Given the description of an element on the screen output the (x, y) to click on. 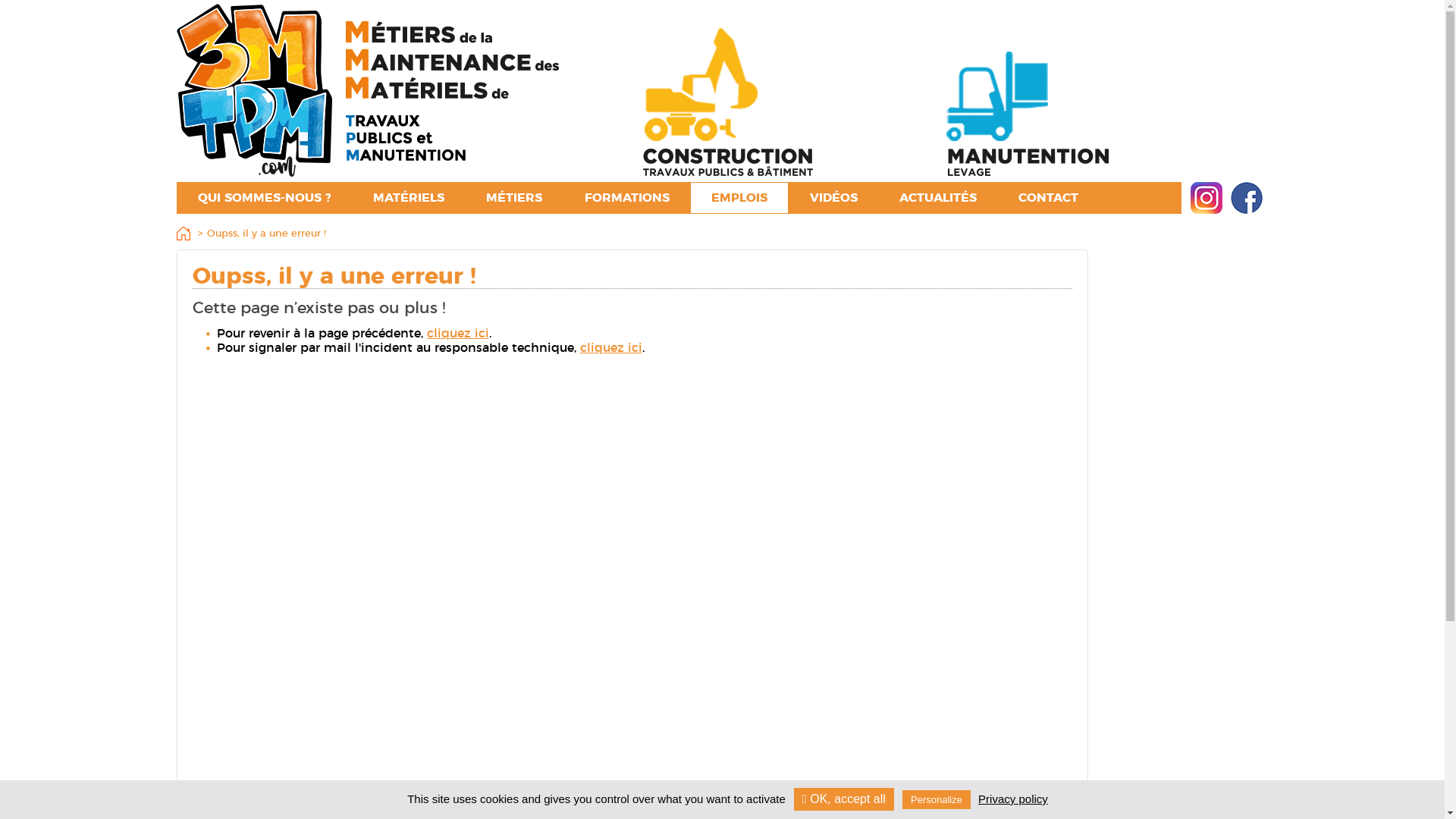
Privacy policy Element type: text (1012, 798)
CONTACT Element type: text (1047, 197)
Accueil Element type: text (185, 235)
cliquez ici Element type: text (610, 348)
Instagram Element type: text (1206, 197)
Facebook Element type: text (1245, 197)
cliquez ici Element type: text (457, 333)
EMPLOIS Element type: text (738, 197)
QUI SOMMES-NOUS ? Element type: text (264, 197)
Personalize Element type: text (936, 799)
FORMATIONS Element type: text (627, 197)
